Given the description of an element on the screen output the (x, y) to click on. 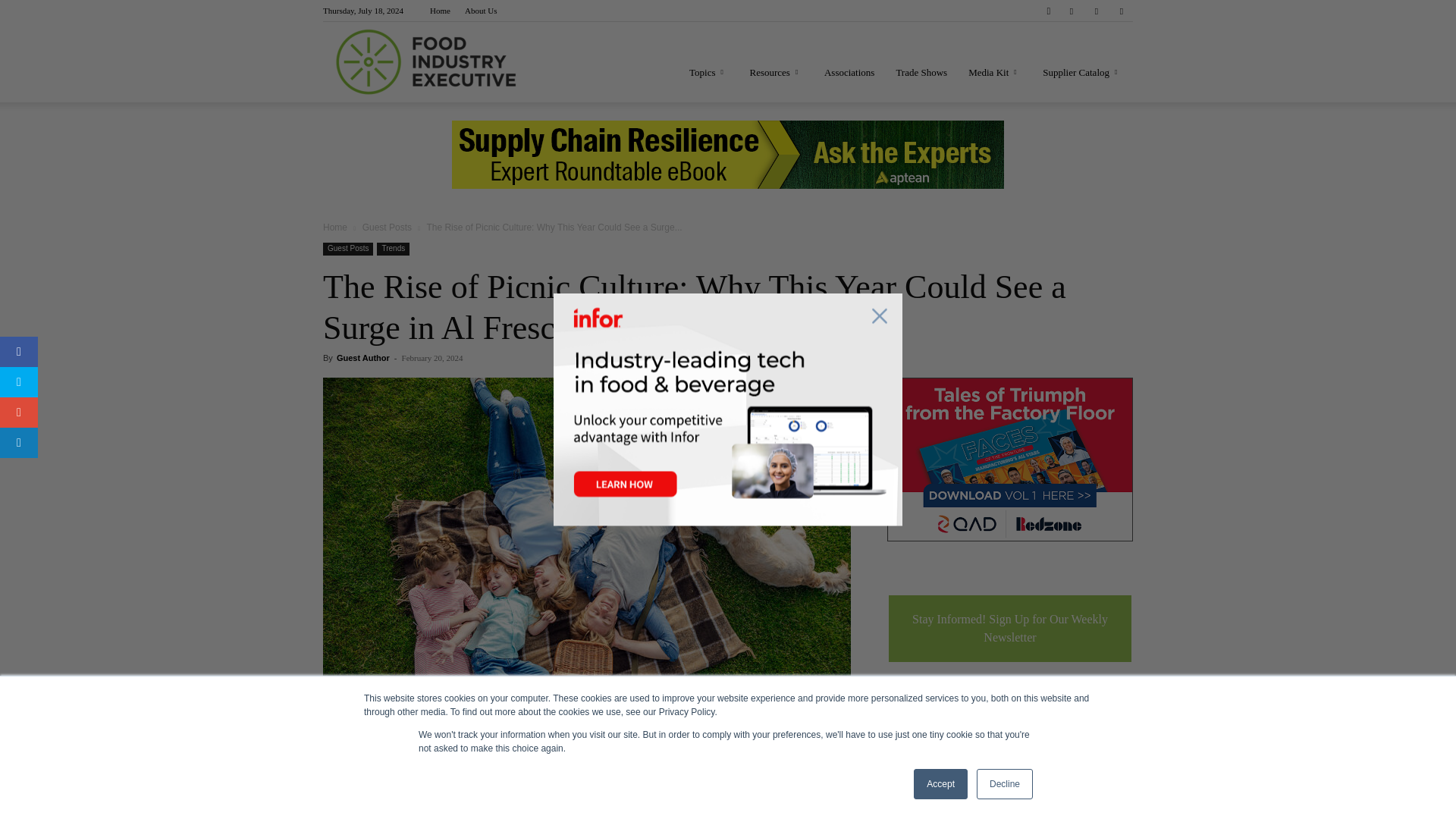
Facebook (1071, 10)
Twitter (1120, 10)
View all posts in Guest Posts (387, 226)
Accept (941, 784)
Food Industry Executive (426, 61)
Decline (1004, 784)
Linkedin (1096, 10)
About Us (480, 10)
Search (1091, 64)
Embedded CTA (727, 154)
Home (439, 10)
Sign me up! (924, 740)
